Given the description of an element on the screen output the (x, y) to click on. 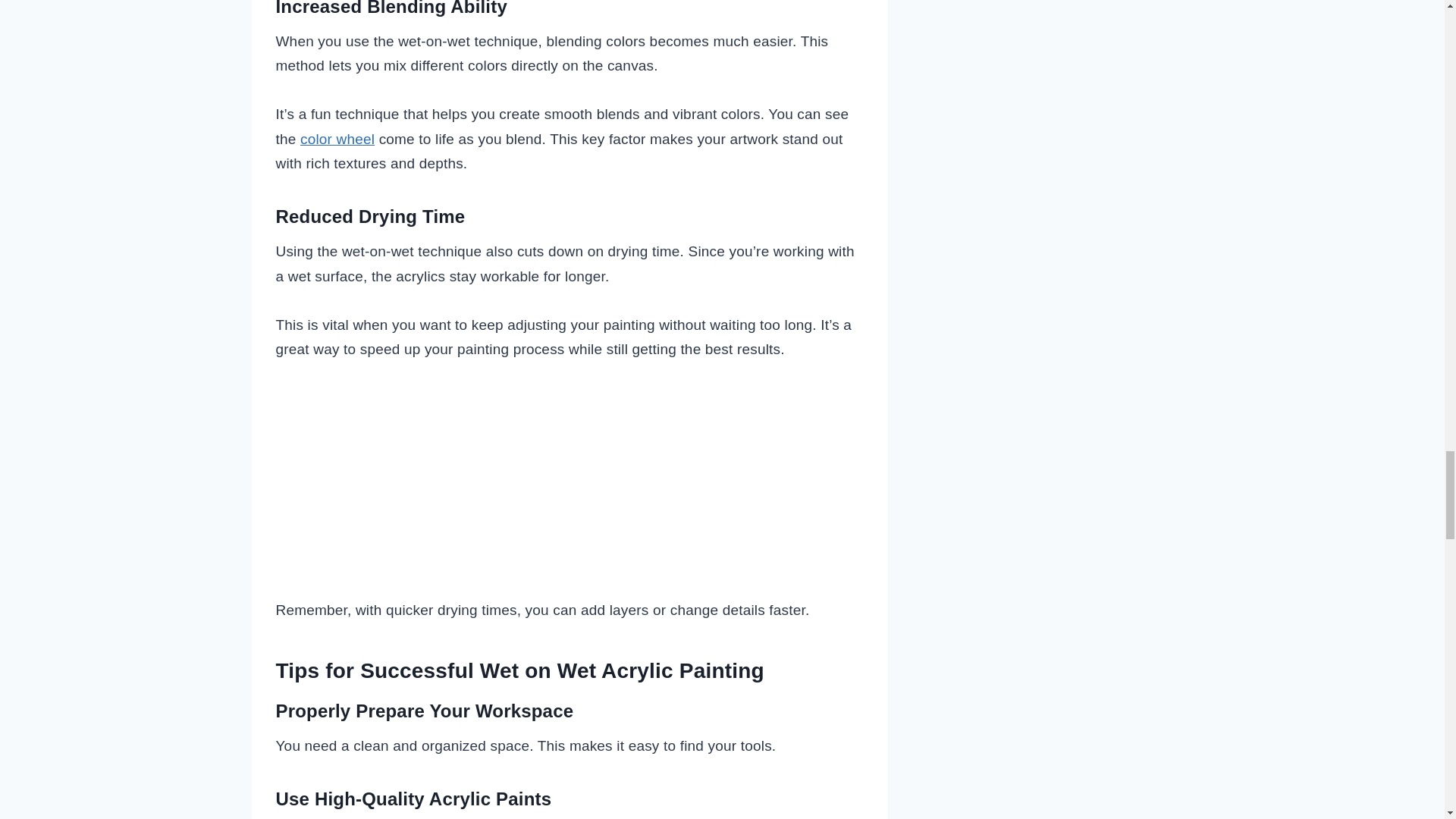
color wheel (336, 139)
